Given the description of an element on the screen output the (x, y) to click on. 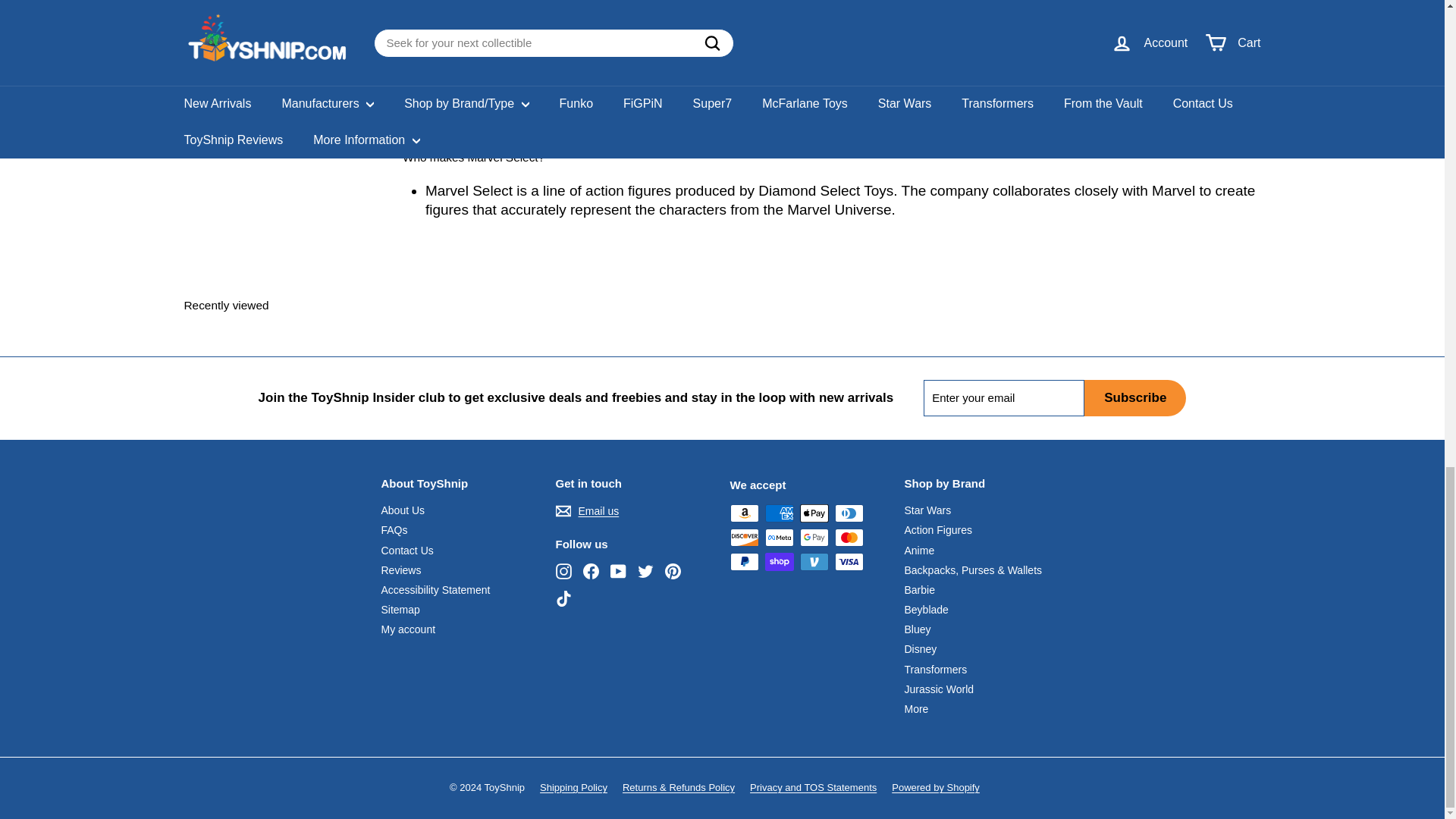
ToyShnip on YouTube (618, 571)
ToyShnip on TikTok (562, 598)
ToyShnip on Facebook (590, 571)
ToyShnip on Pinterest (671, 571)
ToyShnip on Twitter (644, 571)
ToyShnip on Instagram (562, 571)
